Given the description of an element on the screen output the (x, y) to click on. 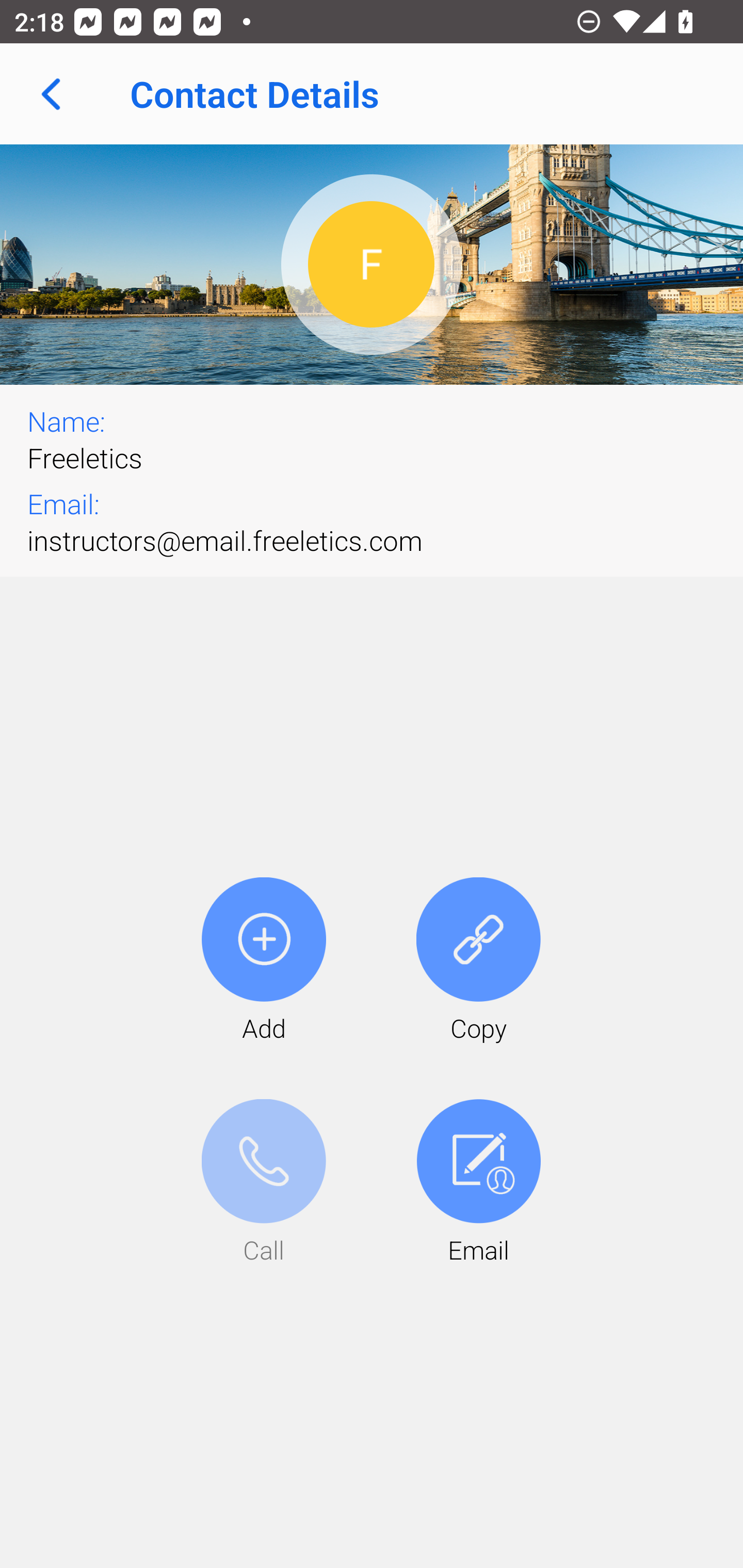
Navigate up (50, 93)
Add (264, 961)
Copy (478, 961)
Call (264, 1182)
Email (478, 1182)
